Given the description of an element on the screen output the (x, y) to click on. 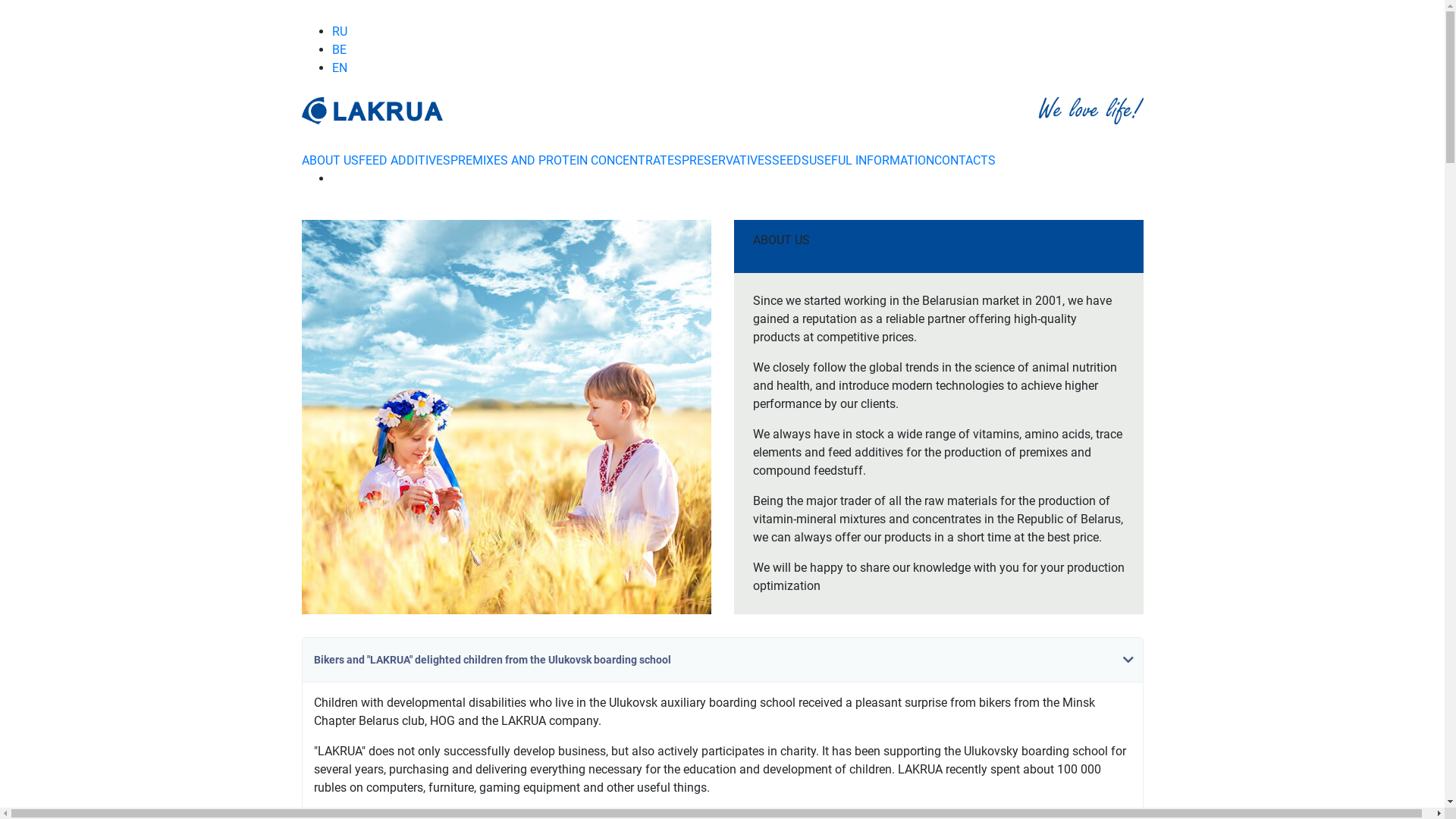
EN Element type: text (339, 67)
USEFUL INFORMATION Element type: text (870, 160)
ABOUT US Element type: text (329, 160)
SEEDS Element type: text (790, 160)
PREMIXES AND PROTEIN CONCENTRATES Element type: text (565, 160)
BE Element type: text (339, 49)
CONTACTS Element type: text (964, 160)
PRESERVATIVES Element type: text (725, 160)
FEED ADDITIVES Element type: text (403, 160)
RU Element type: text (339, 31)
